Given the description of an element on the screen output the (x, y) to click on. 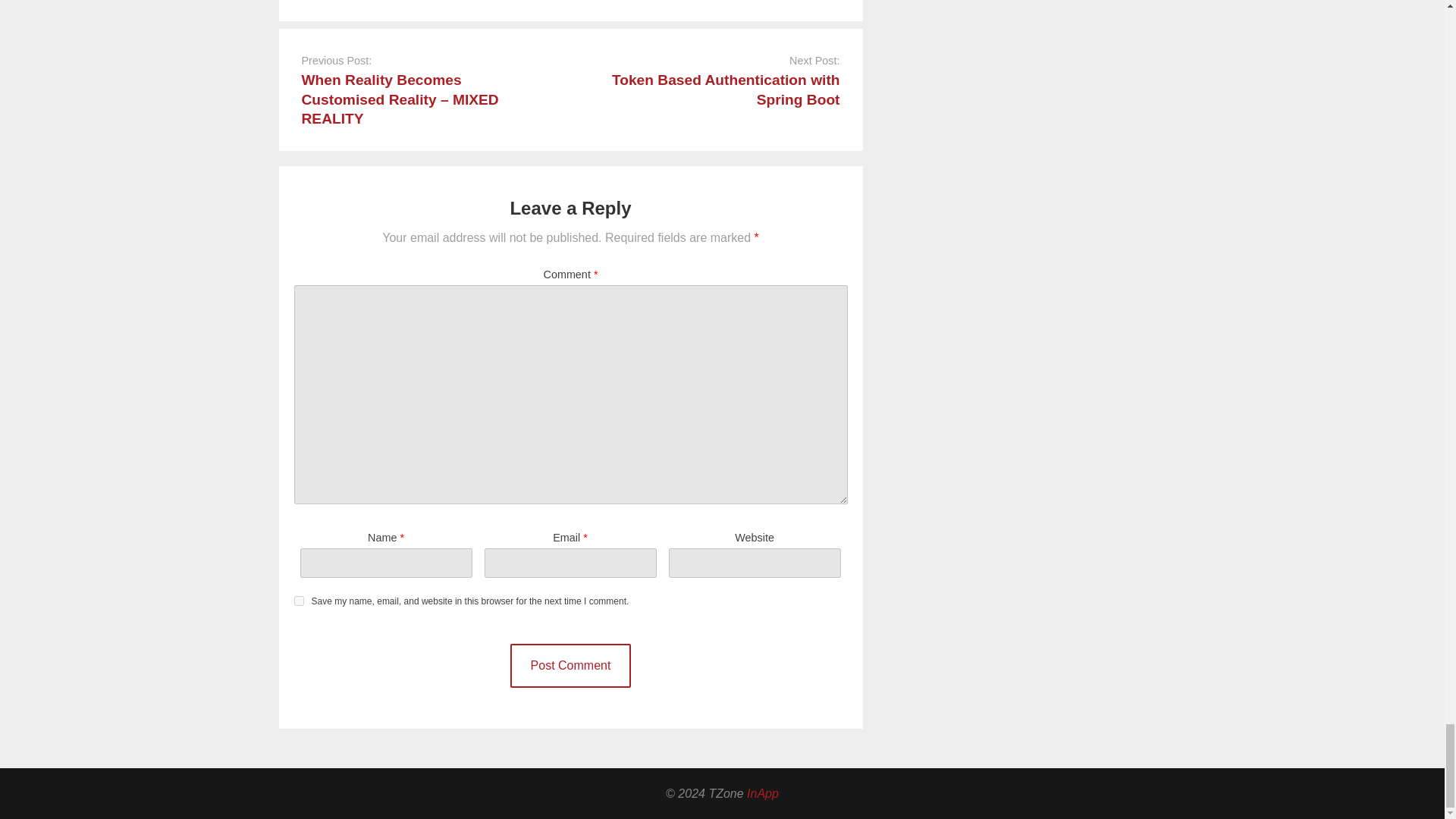
Post Comment (571, 665)
Token Based Authentication with Spring Boot (725, 89)
Post Comment (571, 665)
yes (299, 601)
